Given the description of an element on the screen output the (x, y) to click on. 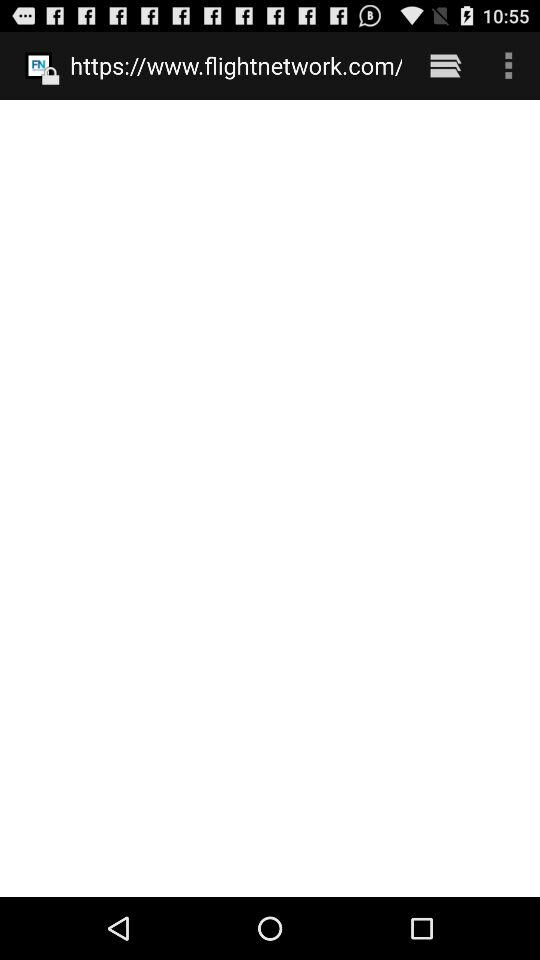
select the icon below https www flightnetwork item (270, 497)
